Given the description of an element on the screen output the (x, y) to click on. 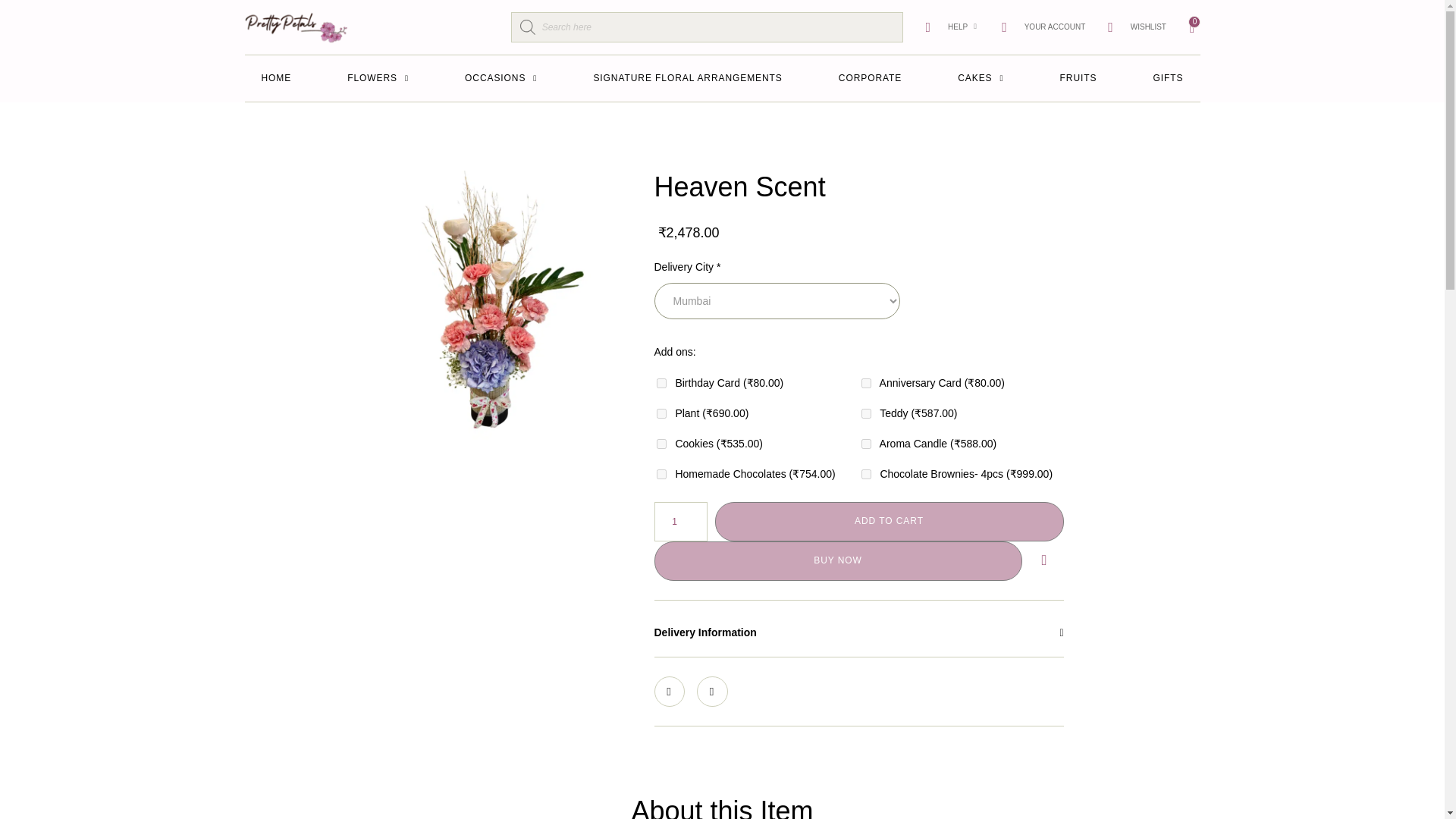
required (718, 266)
GIFTS (1167, 78)
1 (661, 474)
1 (679, 521)
1 (865, 413)
FLOWERS (377, 78)
SIGNATURE FLORAL ARRANGEMENTS (686, 78)
1 (661, 383)
36 (495, 305)
1 (865, 443)
1 (865, 383)
OCCASIONS (500, 78)
CORPORATE (870, 78)
1 (865, 474)
